Given the description of an element on the screen output the (x, y) to click on. 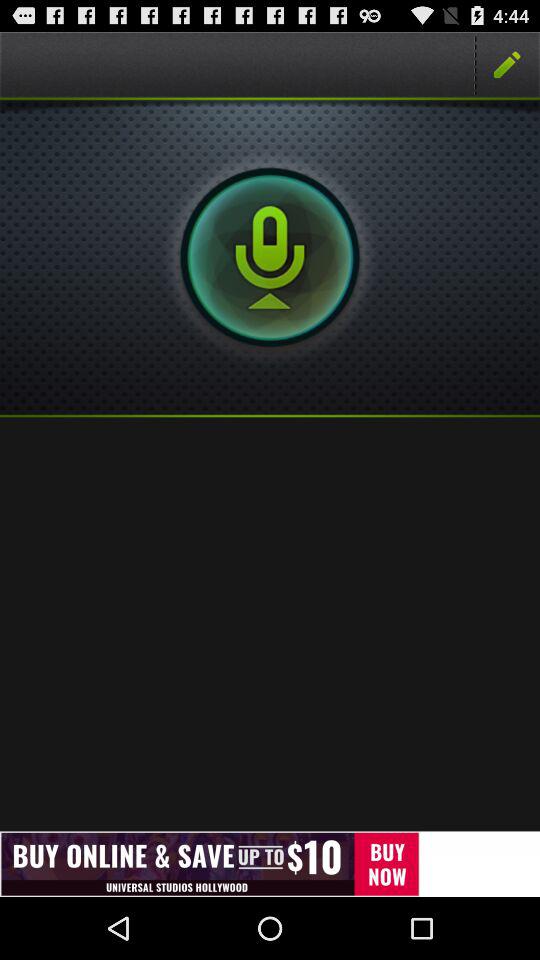
open advertisement (270, 864)
